Given the description of an element on the screen output the (x, y) to click on. 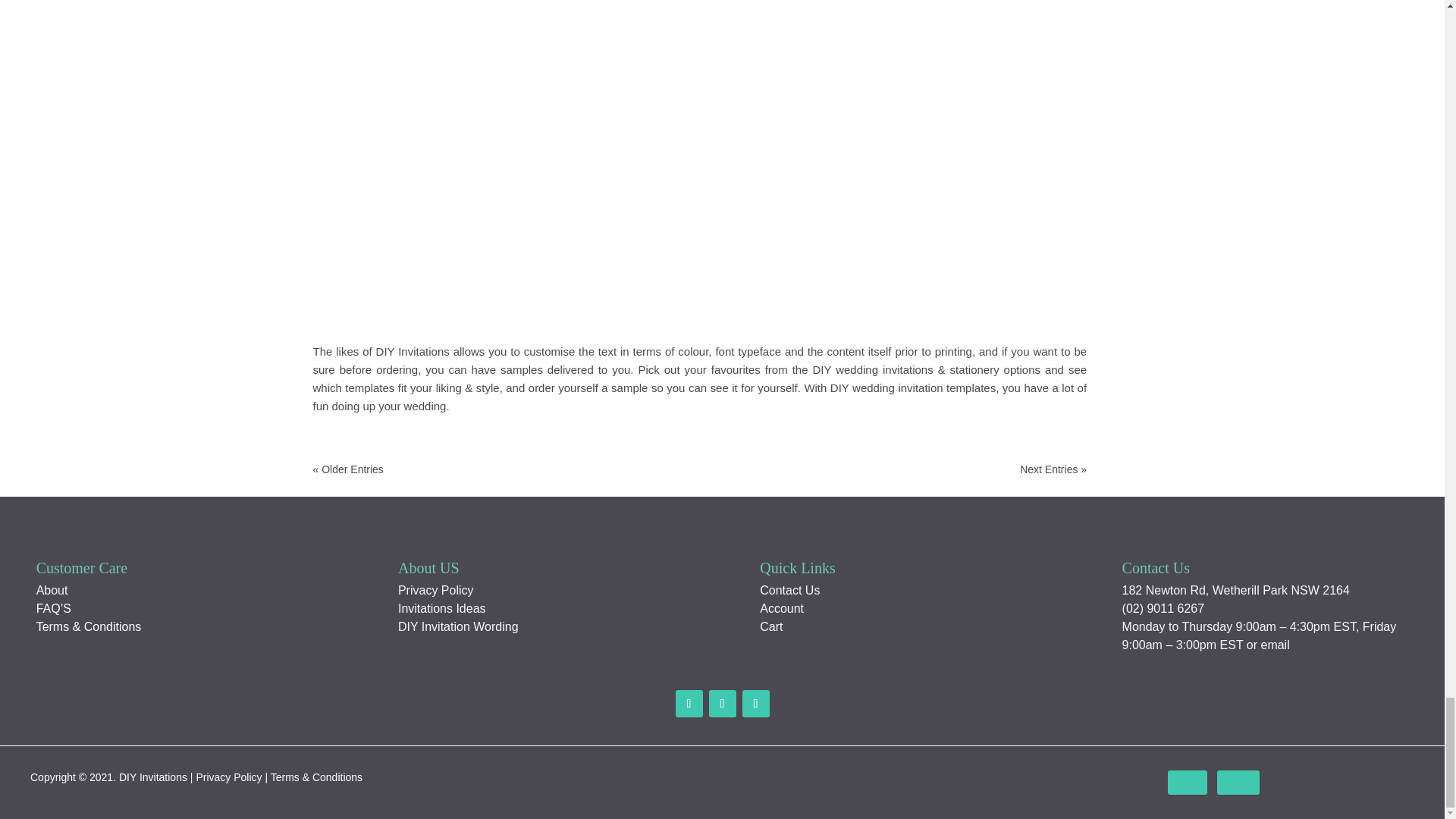
Follow on Facebook (1187, 782)
Follow on Facebook (688, 703)
Follow on Pinterest (754, 703)
Follow on Facebook (1343, 782)
Follow on Facebook (1288, 782)
Follow on X (721, 703)
Follow on Facebook (1238, 782)
